Given the description of an element on the screen output the (x, y) to click on. 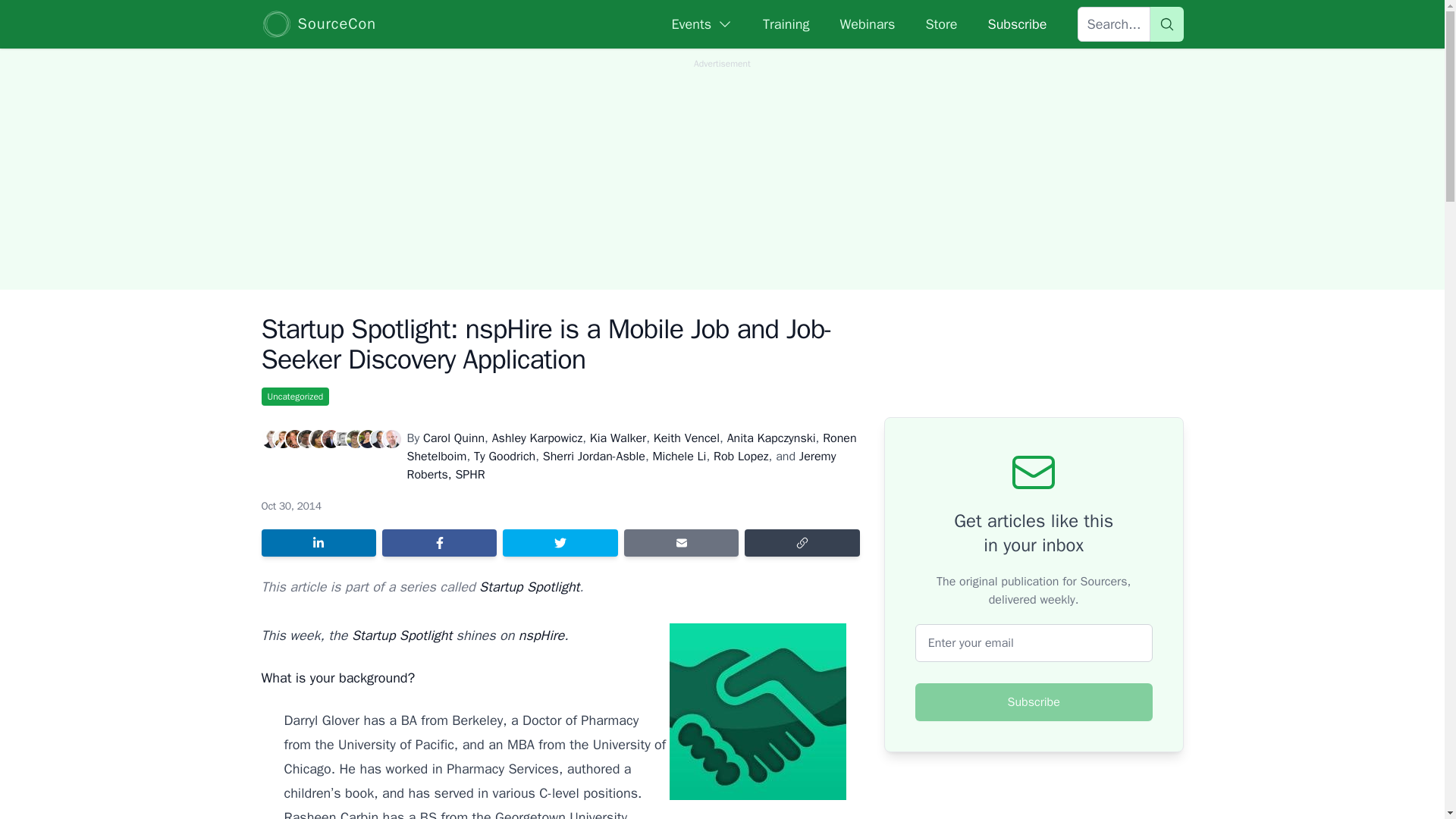
Anita Kapczynski (770, 437)
Startup Spotlight (401, 635)
Rob Lopez (740, 456)
Startup Spotlight (529, 586)
Subscribe (1016, 24)
Keith Vencel (686, 437)
Sherri Jordan-Asble (594, 456)
Subscribe (1034, 702)
Jeremy Roberts, SPHR (620, 465)
Ashley Karpowicz (537, 437)
SourceCon (317, 24)
Webinars (867, 24)
Ty Goodrich (504, 456)
Ronen Shetelboim (631, 447)
Training (785, 24)
